Given the description of an element on the screen output the (x, y) to click on. 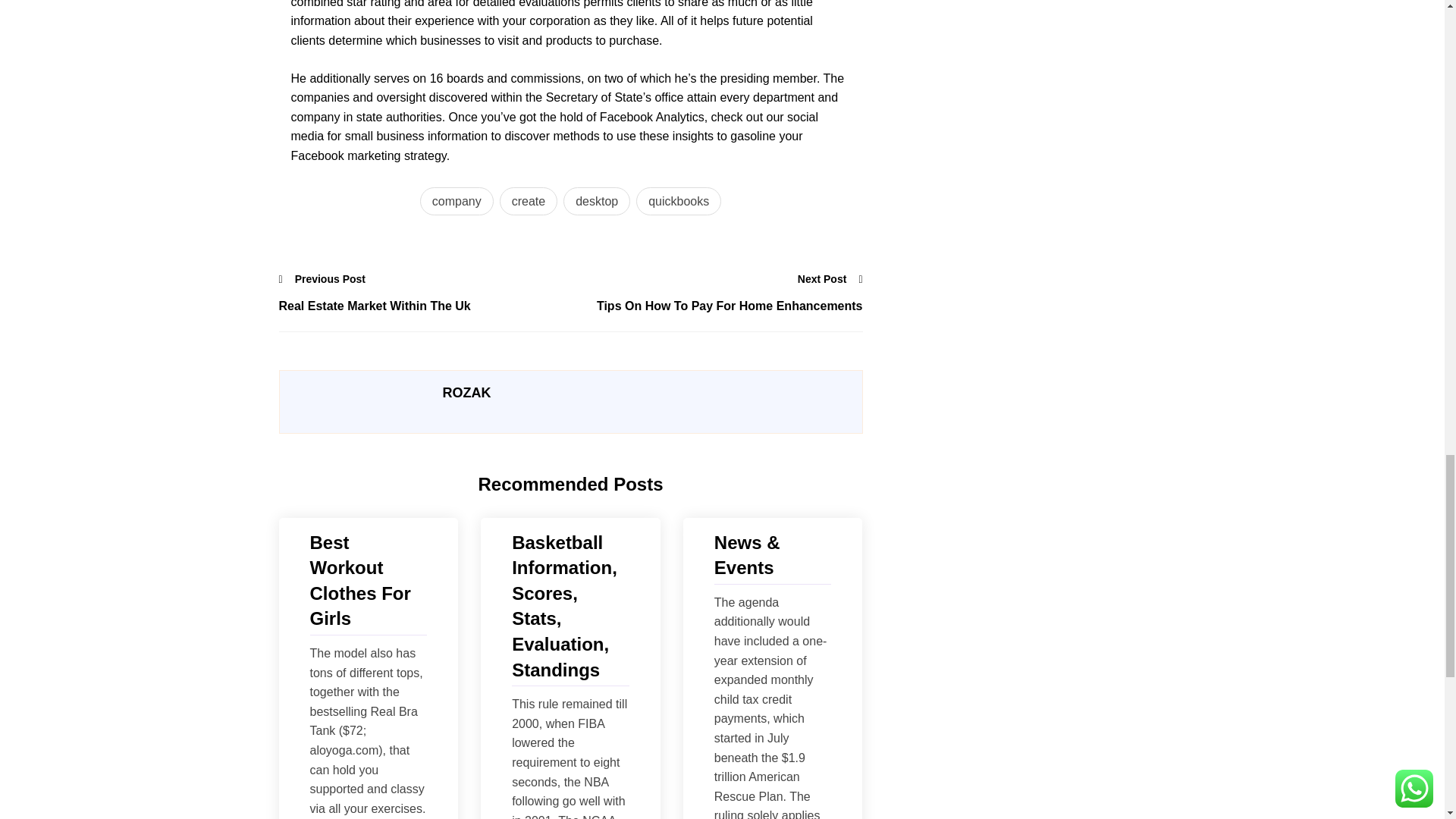
Real Estate Market Within The Uk (424, 306)
quickbooks (678, 201)
Tips On How To Pay For Home Enhancements (715, 306)
Best Workout Clothes For Girls (367, 580)
create (528, 201)
Previous Post (322, 279)
desktop (596, 201)
Next Post (830, 279)
company (456, 201)
